Given the description of an element on the screen output the (x, y) to click on. 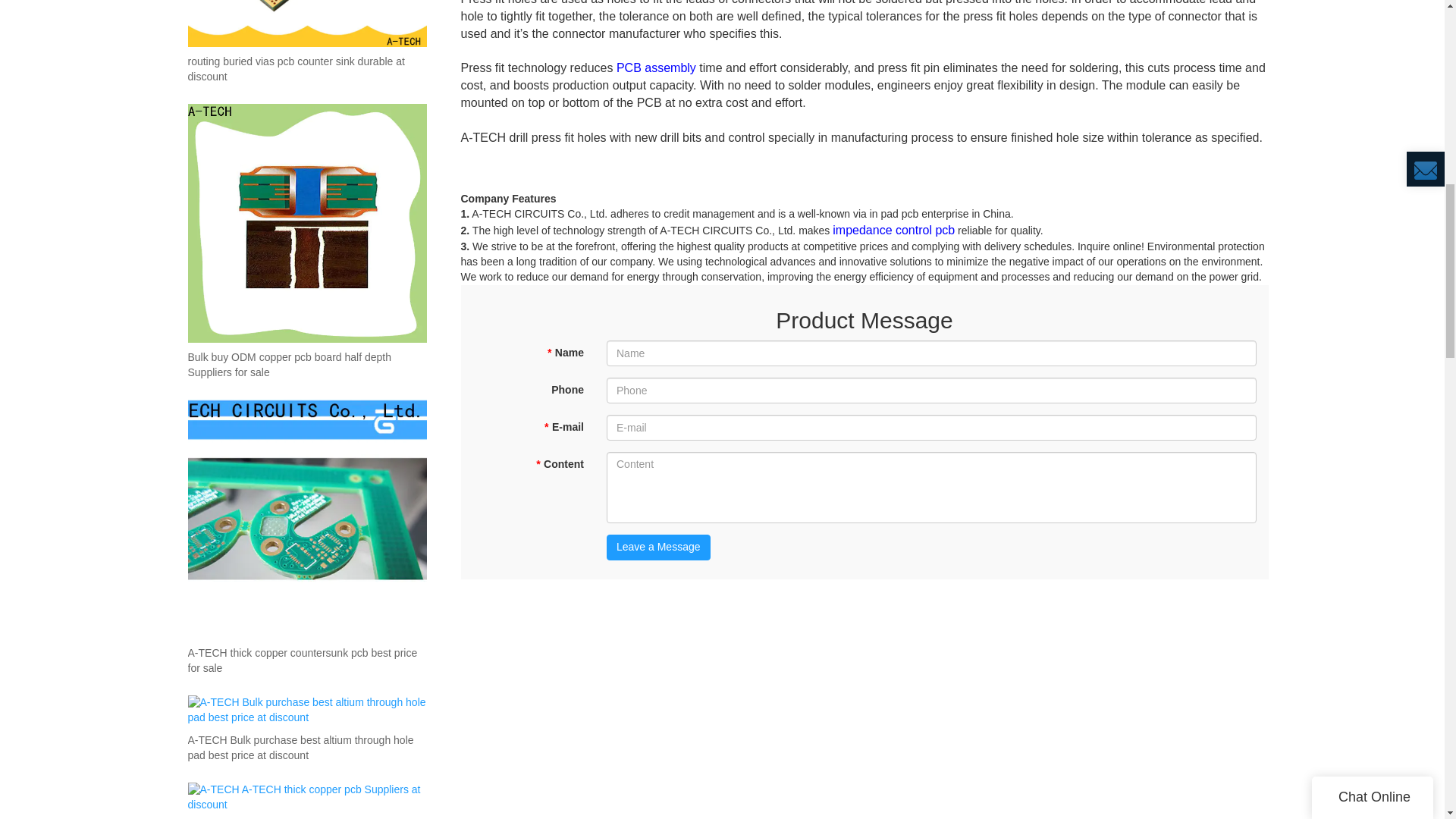
A-TECH thick copper countersunk pcb best price for sale (306, 661)
routing buried vias pcb counter sink durable at discount (306, 69)
Bulk buy ODM copper pcb board half depth Suppliers for sale (306, 365)
